Given the description of an element on the screen output the (x, y) to click on. 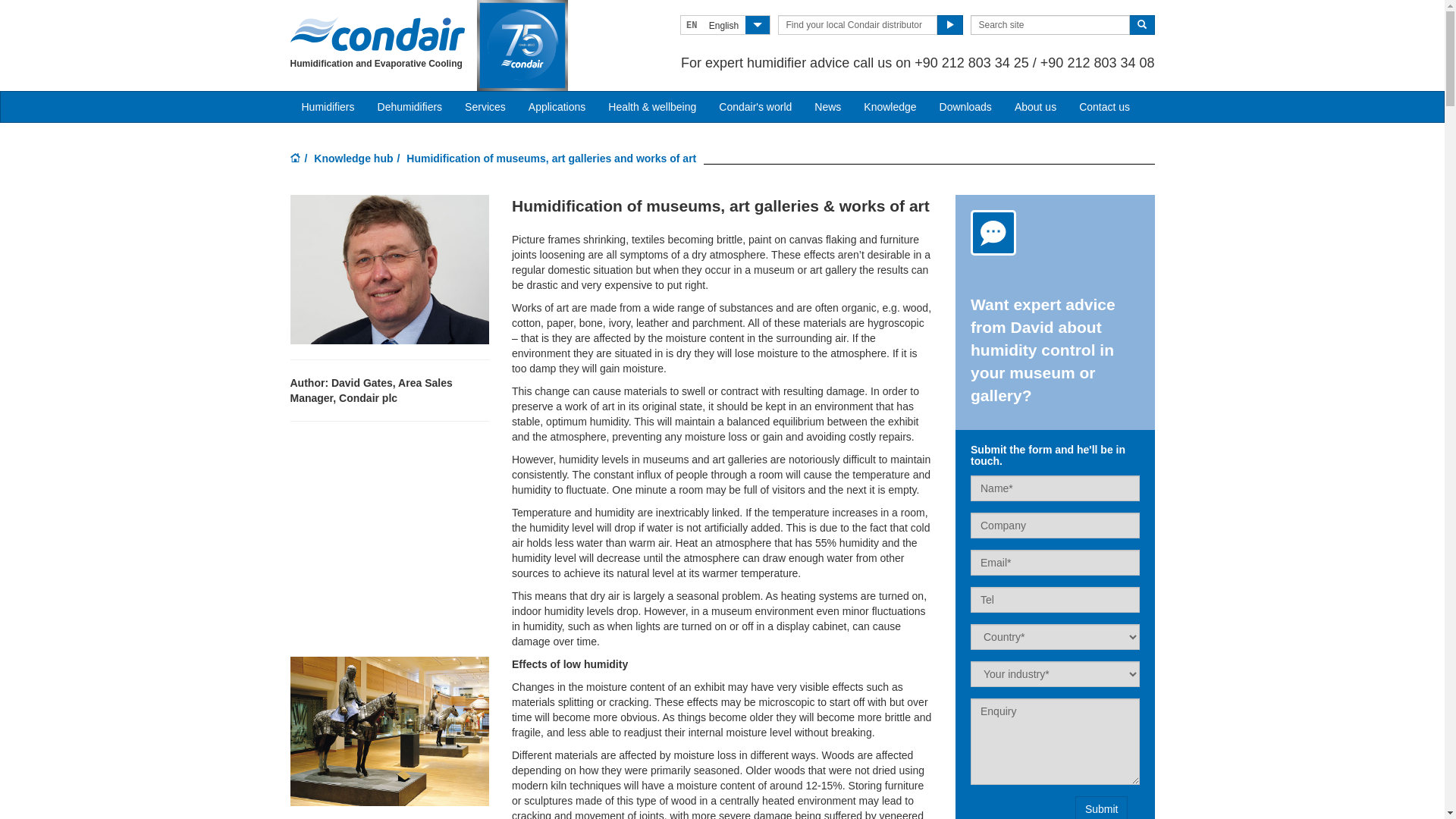
Condair Element type: text (376, 33)
Humidifiers Element type: text (327, 106)
Knowledge Element type: text (889, 106)
Contact us Element type: text (1104, 106)
Home Element type: text (294, 159)
About us Element type: text (1035, 106)
Applications Element type: text (557, 106)
David Gates, Area Sales Manager, Condair plc Element type: hover (388, 269)
Knowledge hub Element type: text (352, 158)
EN English Element type: text (724, 24)
Dehumidifiers Element type: text (410, 106)
Condair's world Element type: text (755, 106)
Downloads Element type: text (965, 106)
Health & wellbeing Element type: text (651, 106)
Museum and gallery humidity control Element type: hover (388, 731)
Services Element type: text (485, 106)
News Element type: text (827, 106)
